Given the description of an element on the screen output the (x, y) to click on. 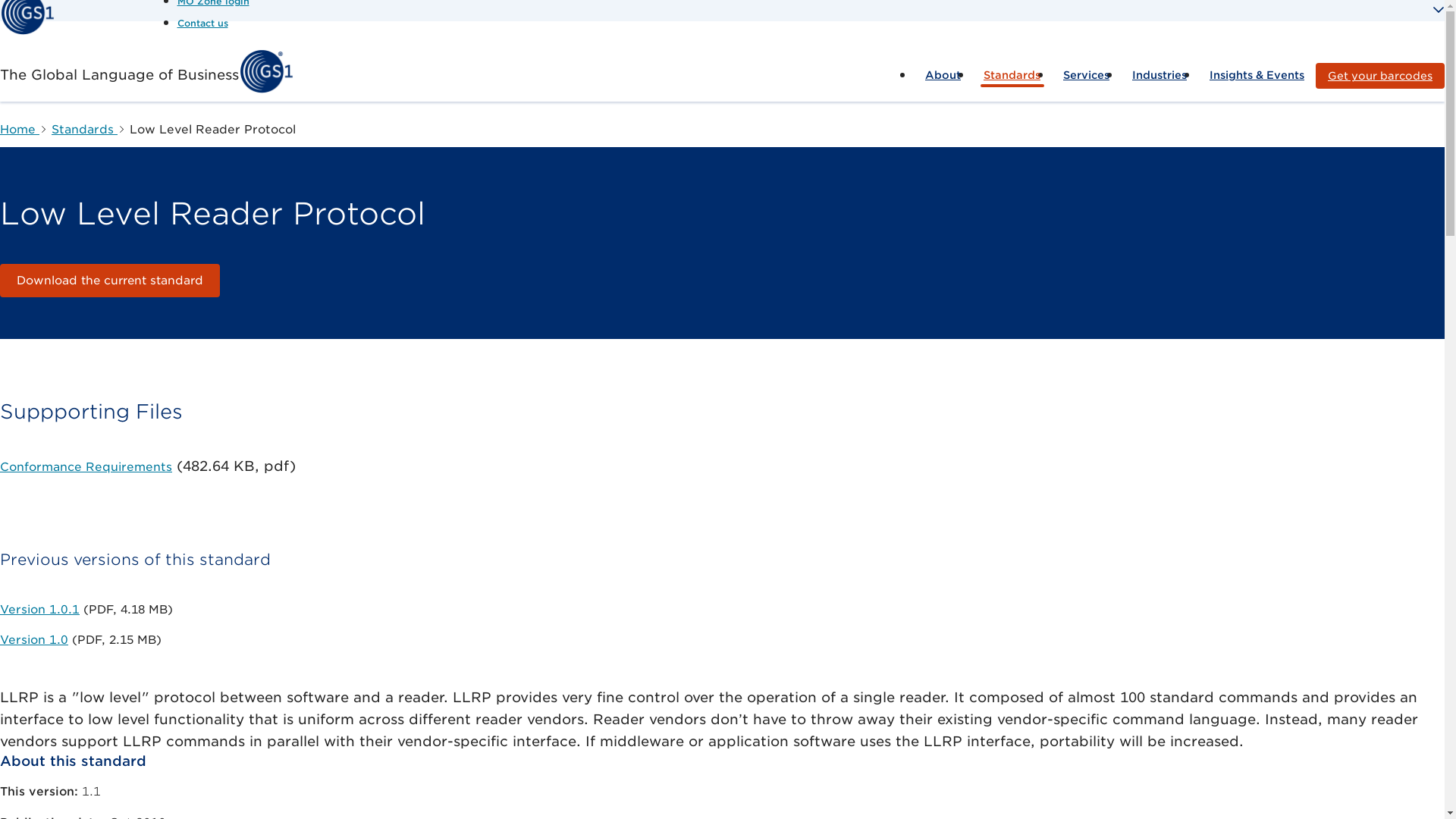
MO Zone login (212, 3)
Home (266, 89)
Contact us (202, 22)
Skip to main content (721, 1)
Home (27, 31)
en (202, 22)
Standards (1011, 75)
